Given the description of an element on the screen output the (x, y) to click on. 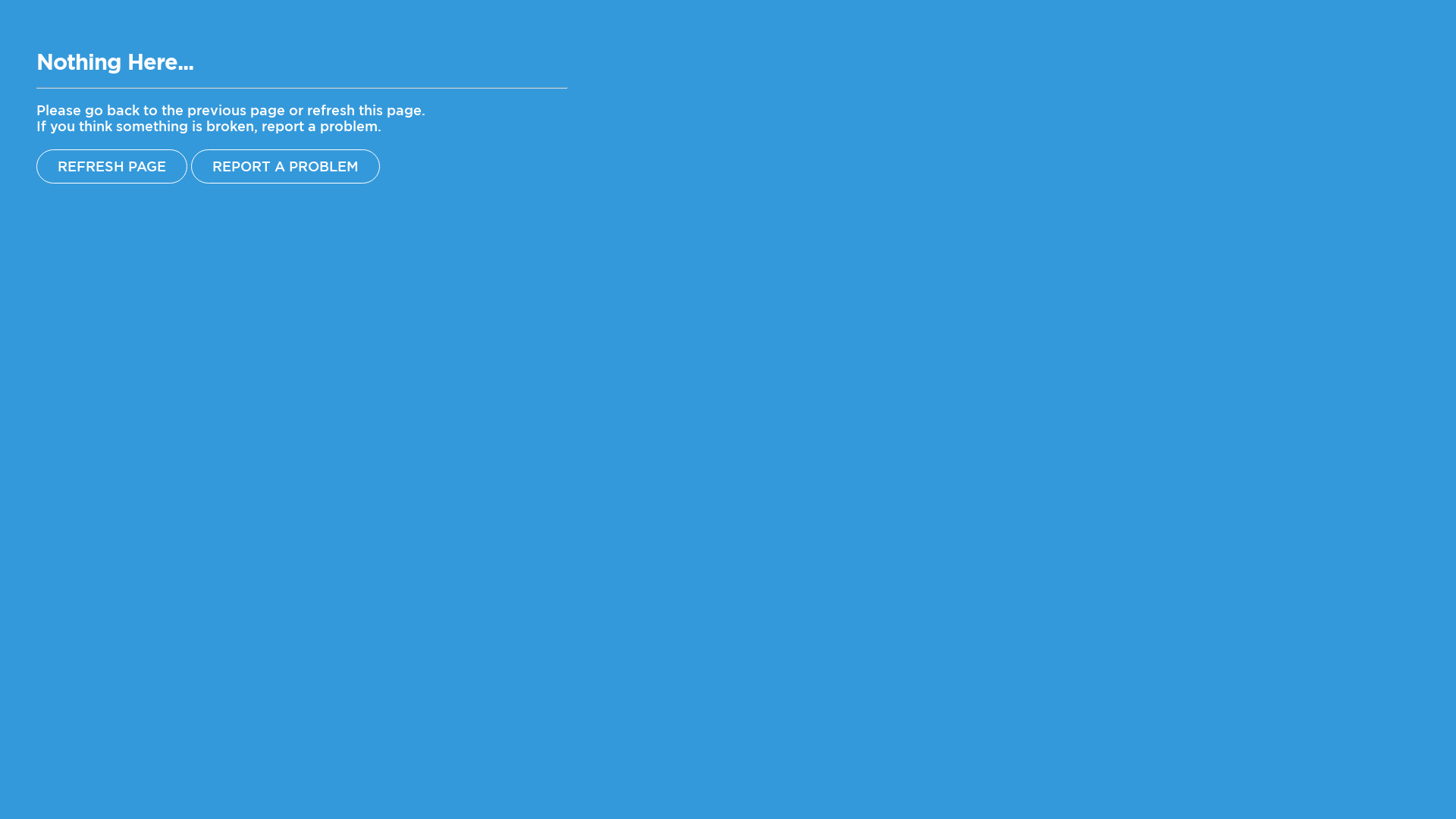
REPORT A PROBLEM Element type: text (285, 166)
REFRESH PAGE Element type: text (111, 166)
